Given the description of an element on the screen output the (x, y) to click on. 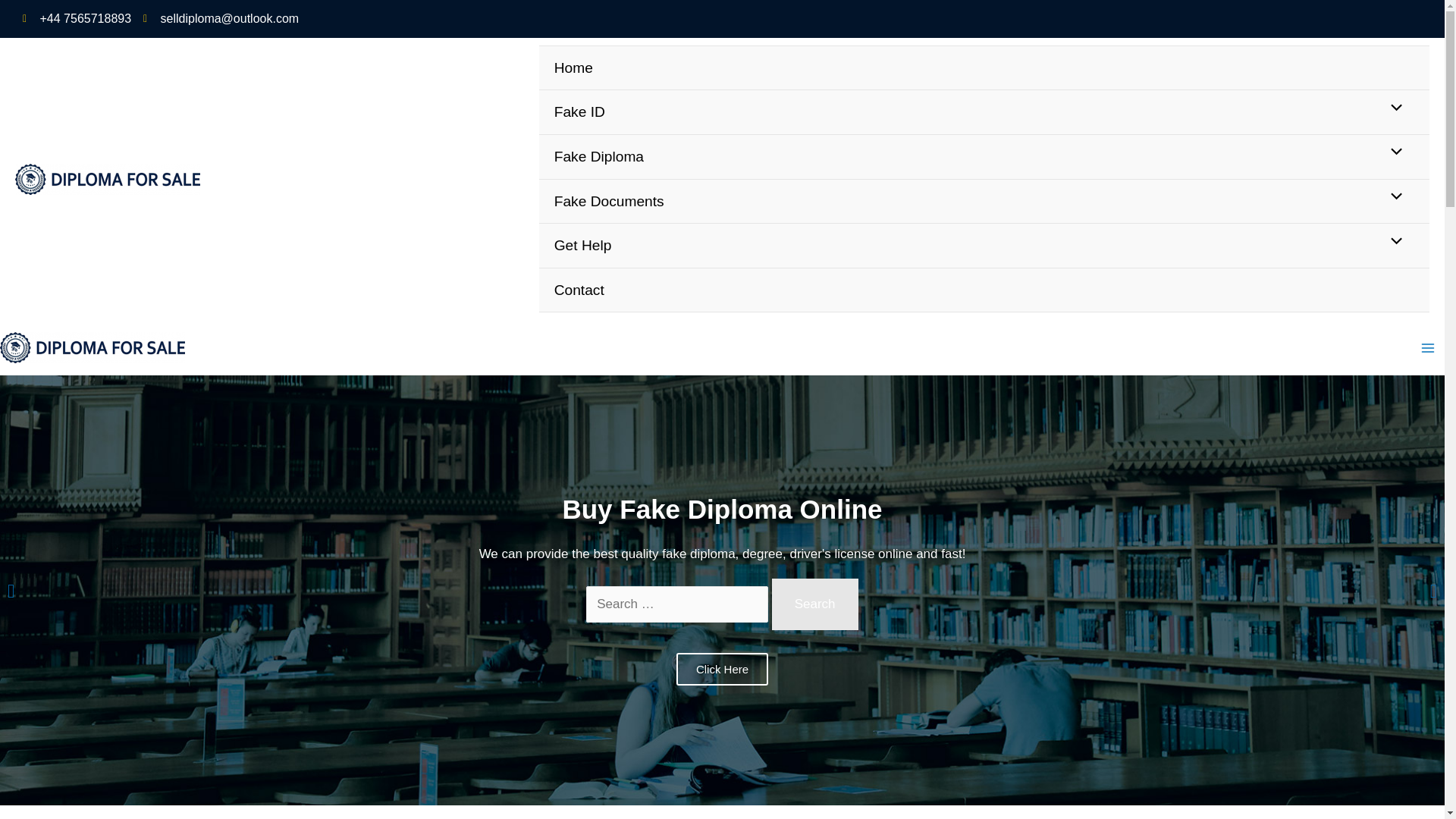
Get Help (983, 245)
Contact (983, 290)
Fake Documents (983, 201)
Fake ID (983, 112)
Fake Diploma (983, 157)
Search (815, 603)
Home (983, 67)
Search (815, 603)
